Given the description of an element on the screen output the (x, y) to click on. 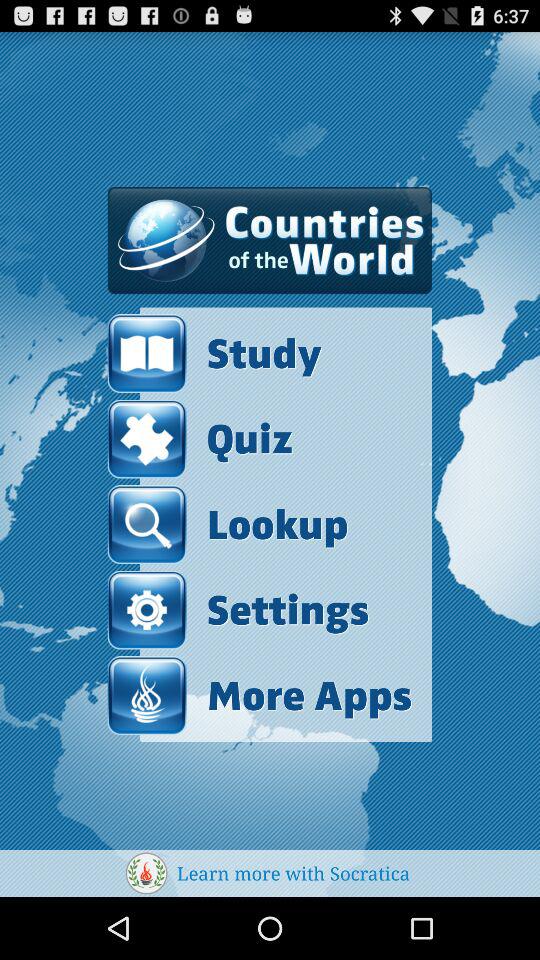
press the icon below the study (199, 438)
